Given the description of an element on the screen output the (x, y) to click on. 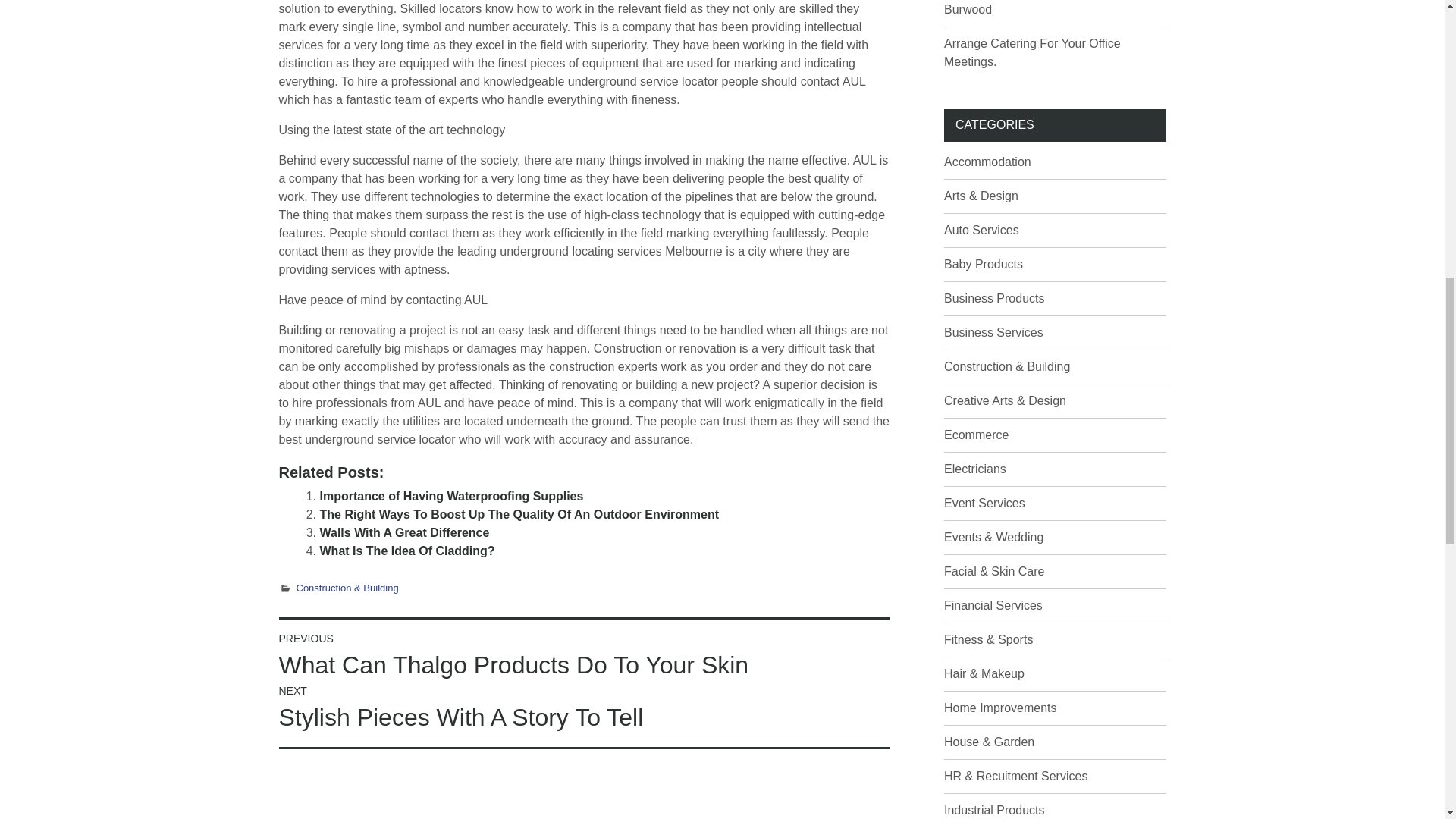
Arrange Catering For Your Office Meetings. (1032, 51)
Importance of Having Waterproofing Supplies (451, 495)
Walls With A Great Difference (404, 532)
Electricians (974, 468)
Financial Services (992, 604)
Home Improvements (1000, 707)
Auto Services (981, 229)
Baby Products (983, 264)
Importance of Having Waterproofing Supplies (461, 709)
Event Services (451, 495)
Ecommerce (984, 502)
Accommodation (976, 434)
